Given the description of an element on the screen output the (x, y) to click on. 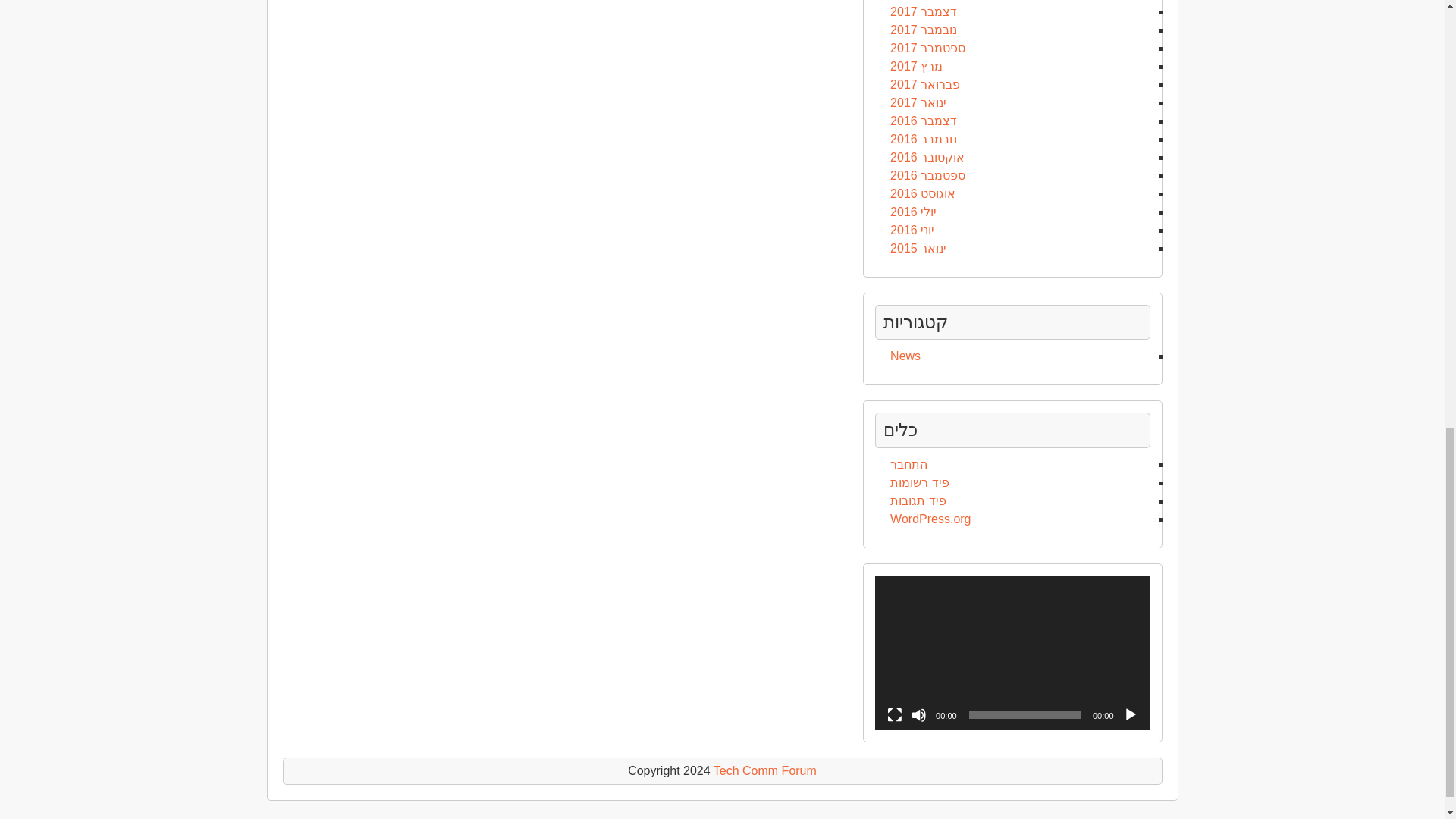
Tech Comm Forum (764, 770)
